Given the description of an element on the screen output the (x, y) to click on. 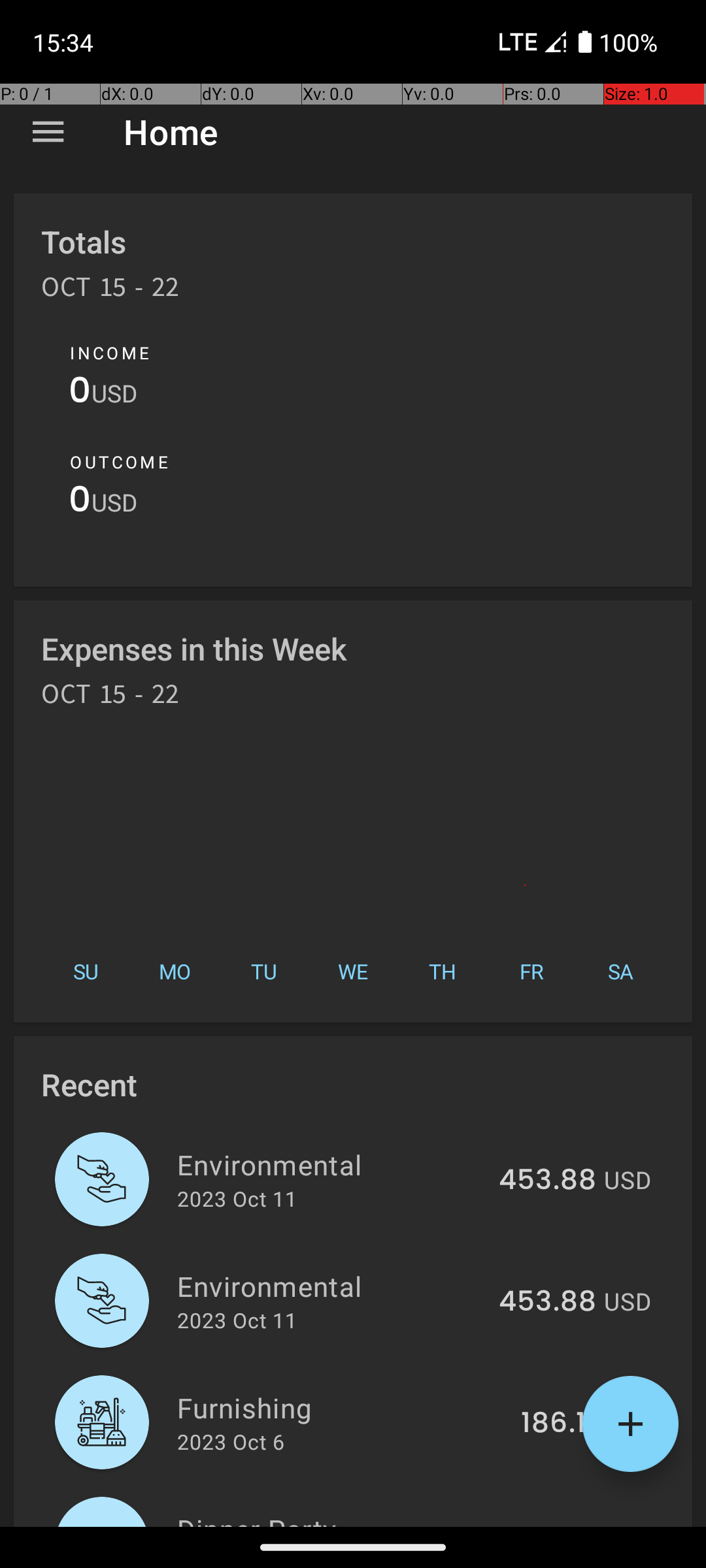
Environmental Element type: android.widget.TextView (330, 1164)
453.88 Element type: android.widget.TextView (547, 1180)
Furnishing Element type: android.widget.TextView (341, 1407)
2023 Oct 6 Element type: android.widget.TextView (230, 1441)
186.11 Element type: android.widget.TextView (558, 1423)
Dinner Party Element type: android.widget.TextView (339, 1518)
26.59 Element type: android.widget.TextView (556, 1524)
